Given the description of an element on the screen output the (x, y) to click on. 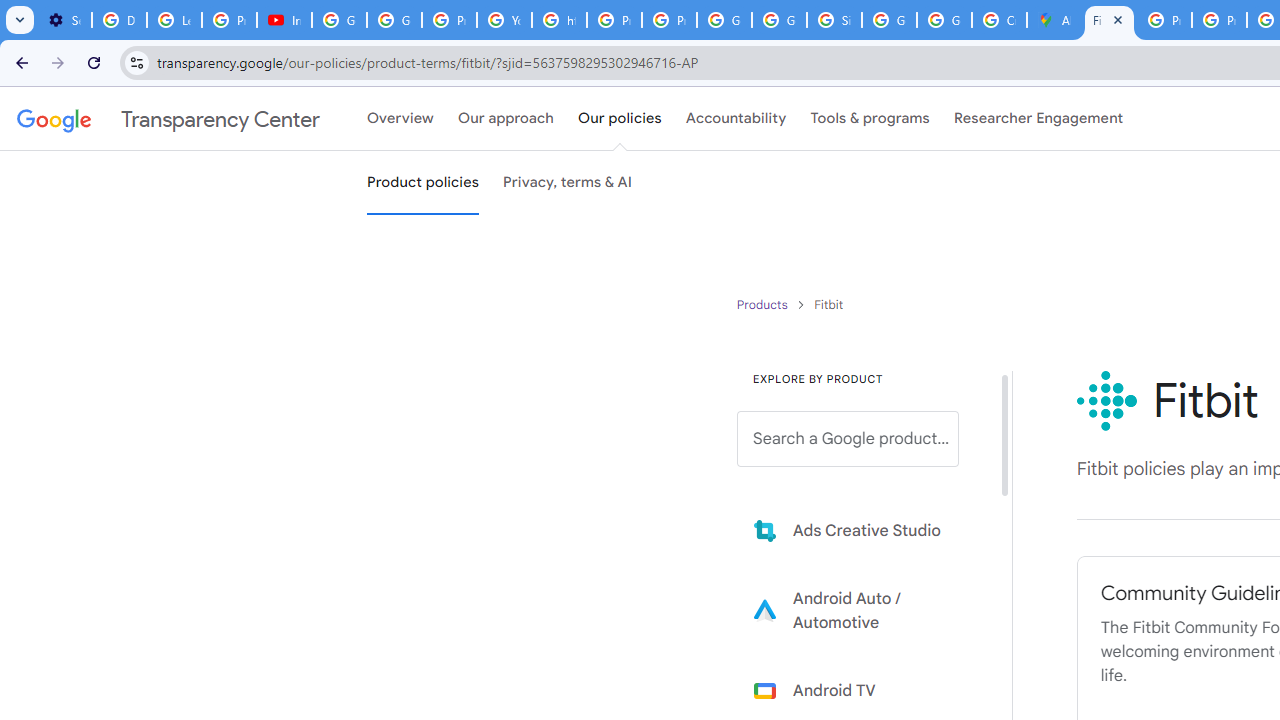
Introduction | Google Privacy Policy - YouTube (284, 20)
YouTube (504, 20)
Google Account Help (339, 20)
Researcher Engagement (1038, 119)
Search a Google product from below list. (847, 439)
Delete photos & videos - Computer - Google Photos Help (119, 20)
Sign in - Google Accounts (833, 20)
